Given the description of an element on the screen output the (x, y) to click on. 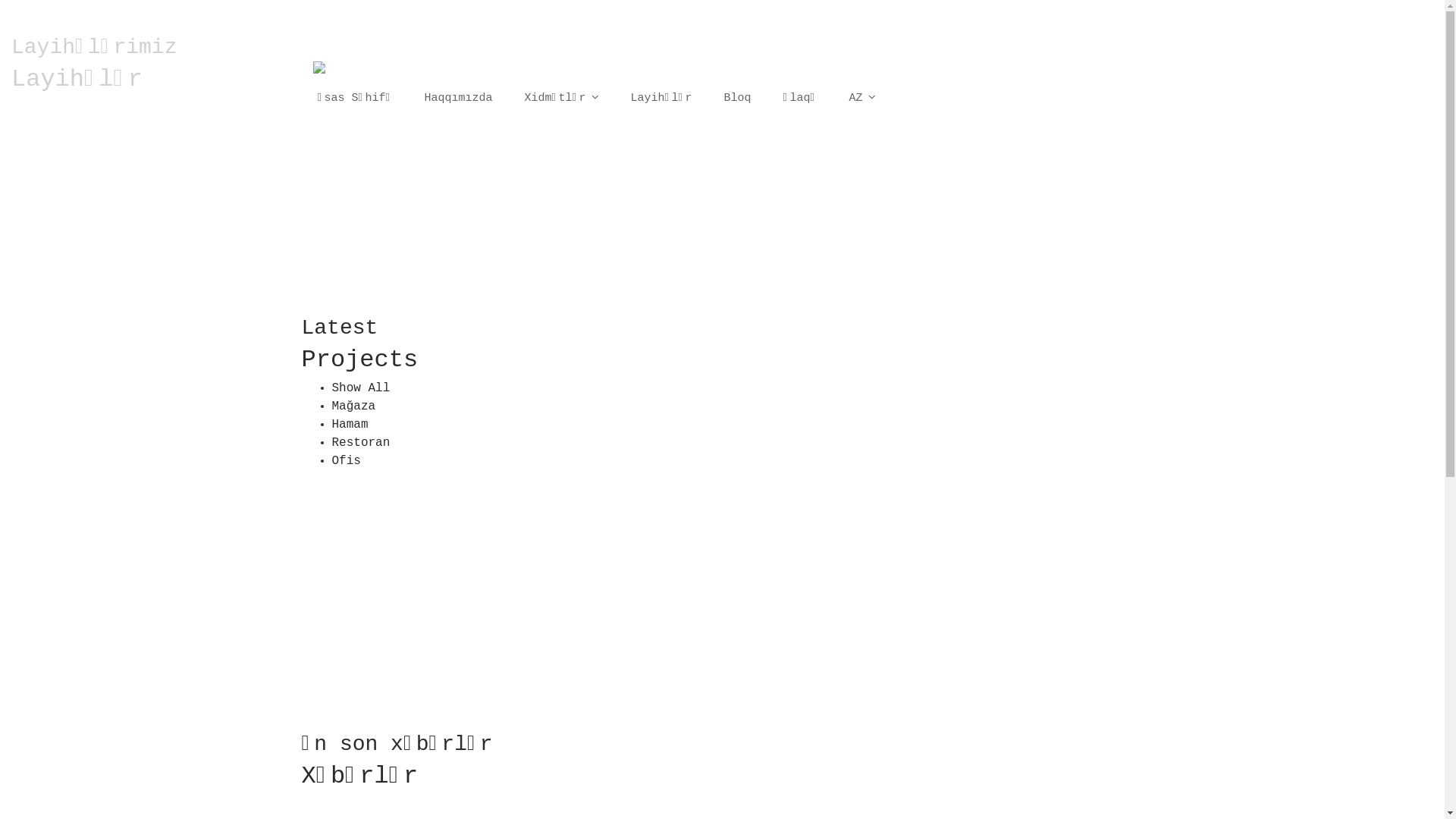
AZ Element type: text (862, 97)
Bloq Element type: text (737, 97)
